Given the description of an element on the screen output the (x, y) to click on. 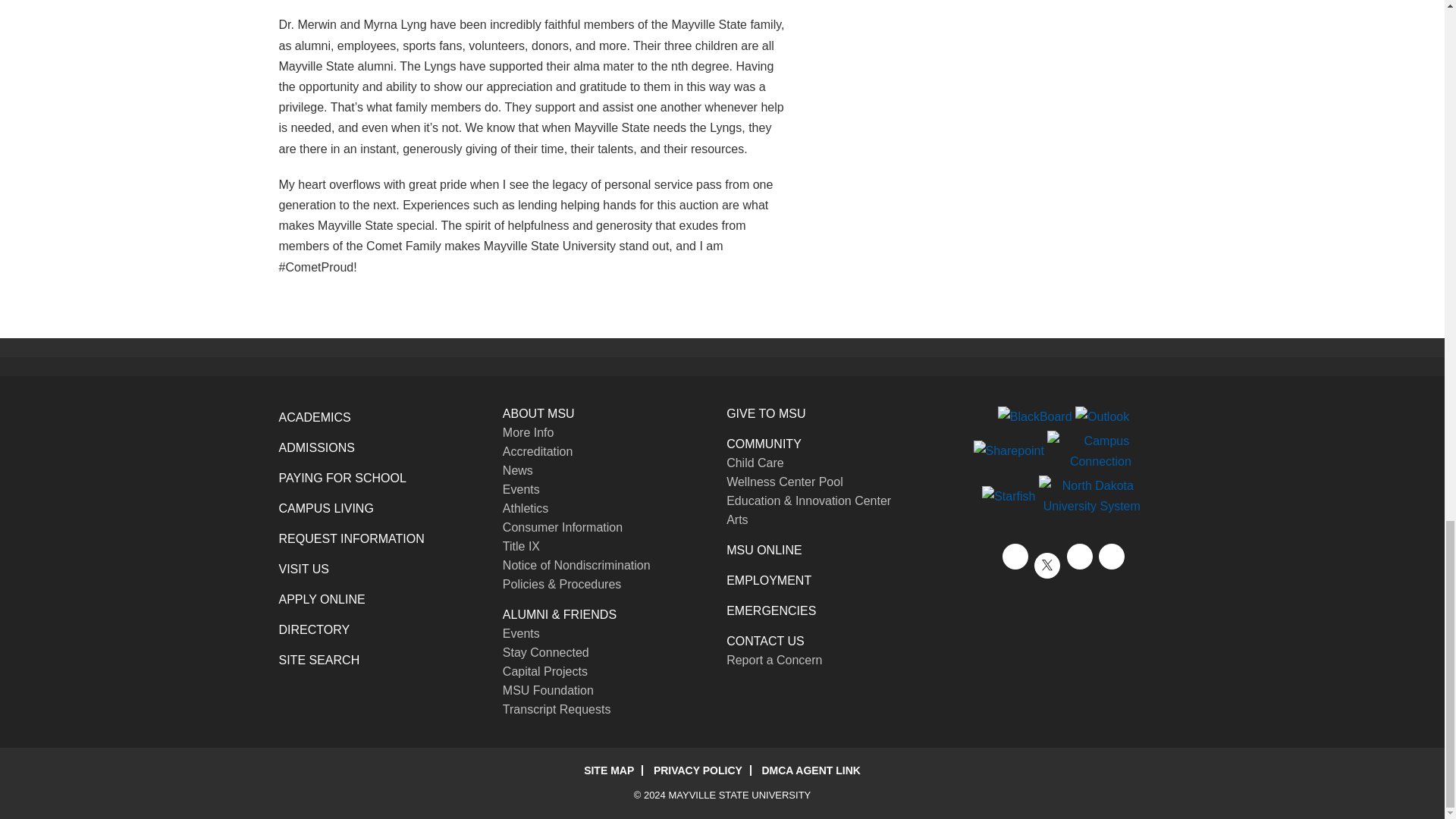
Request Information (352, 538)
Academics (314, 417)
About MSU (538, 413)
Visit Us (304, 568)
Site Search (319, 659)
Apply Now (322, 599)
Campus Living (326, 508)
Paying for School (342, 477)
Admissions (317, 447)
